Given the description of an element on the screen output the (x, y) to click on. 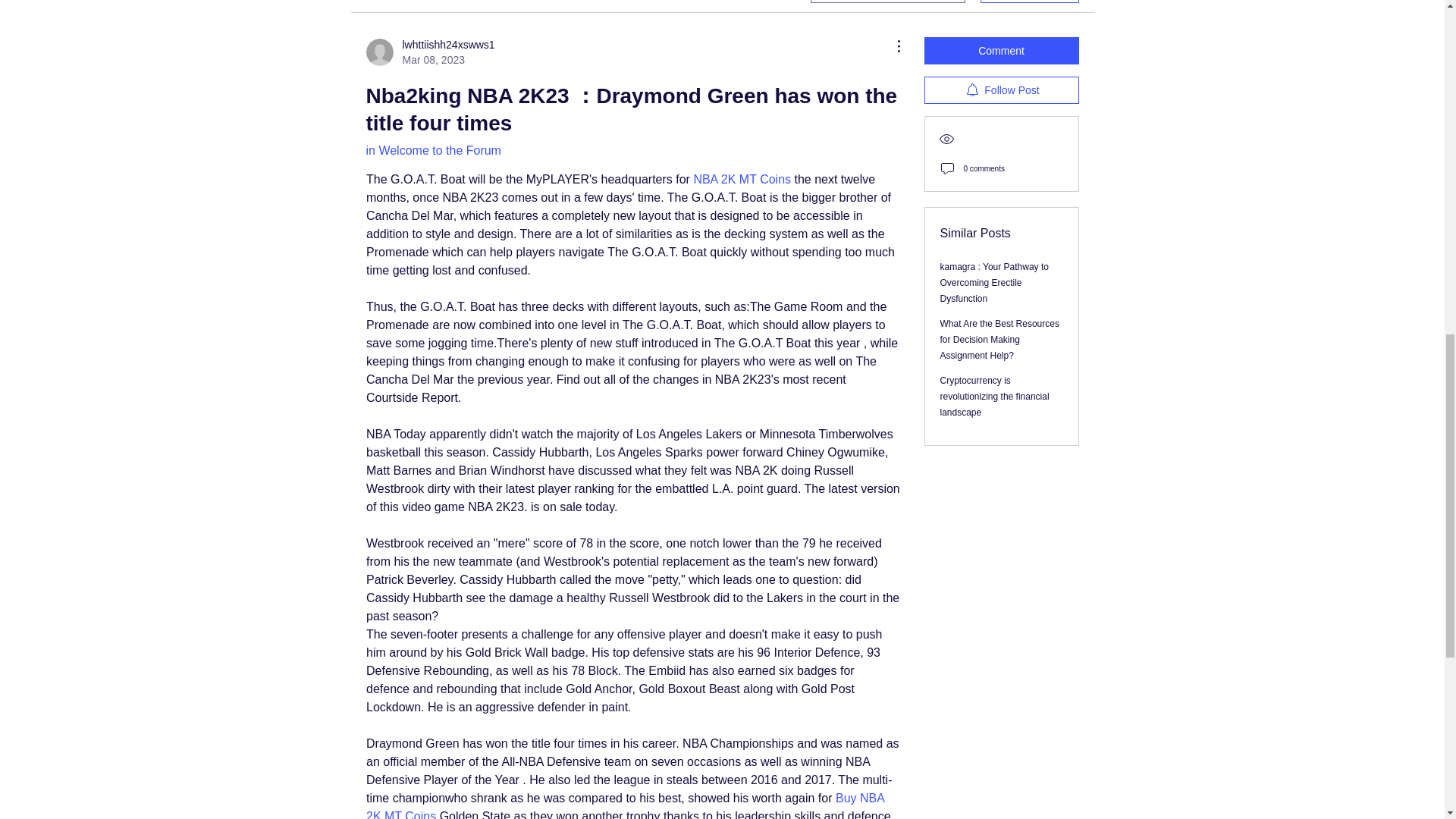
Follow Post (430, 51)
Cryptocurrency is revolutionizing the financial landscape (1000, 90)
in Welcome to the Forum (994, 396)
NBA 2K MT Coins (432, 150)
kamagra : Your Pathway to Overcoming Erectile Dysfunction (741, 178)
Buy NBA 2K MT Coins (994, 282)
Comment (625, 805)
